Given the description of an element on the screen output the (x, y) to click on. 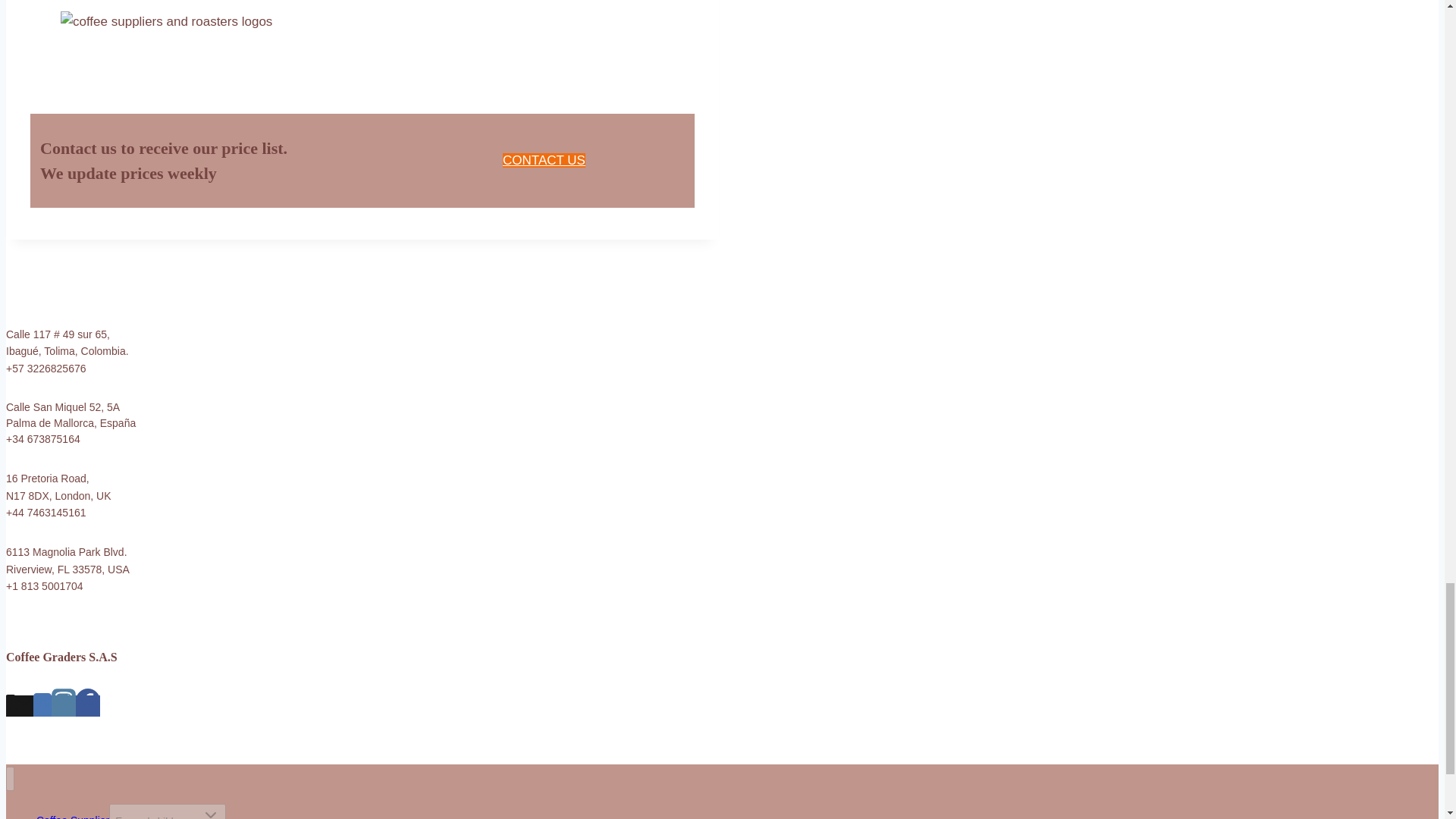
Expand child menuExpand (167, 811)
Email (23, 703)
Instagram (62, 705)
Expand (210, 812)
Coffee Supplier (72, 811)
Facebook (87, 700)
CONTACT US (543, 160)
Instagram (62, 700)
Facebook (87, 705)
